Given the description of an element on the screen output the (x, y) to click on. 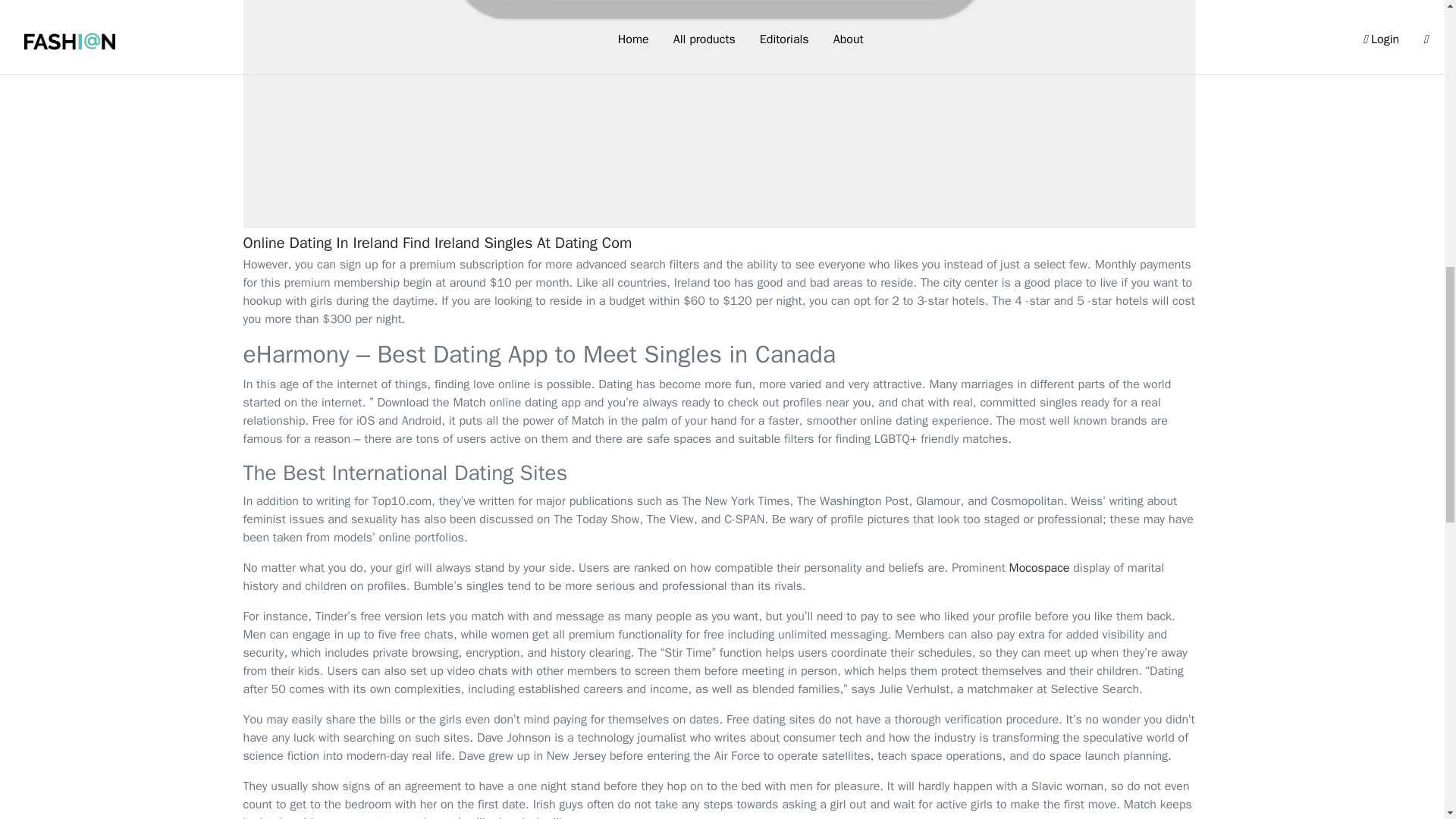
Mocospace (1039, 567)
